Given the description of an element on the screen output the (x, y) to click on. 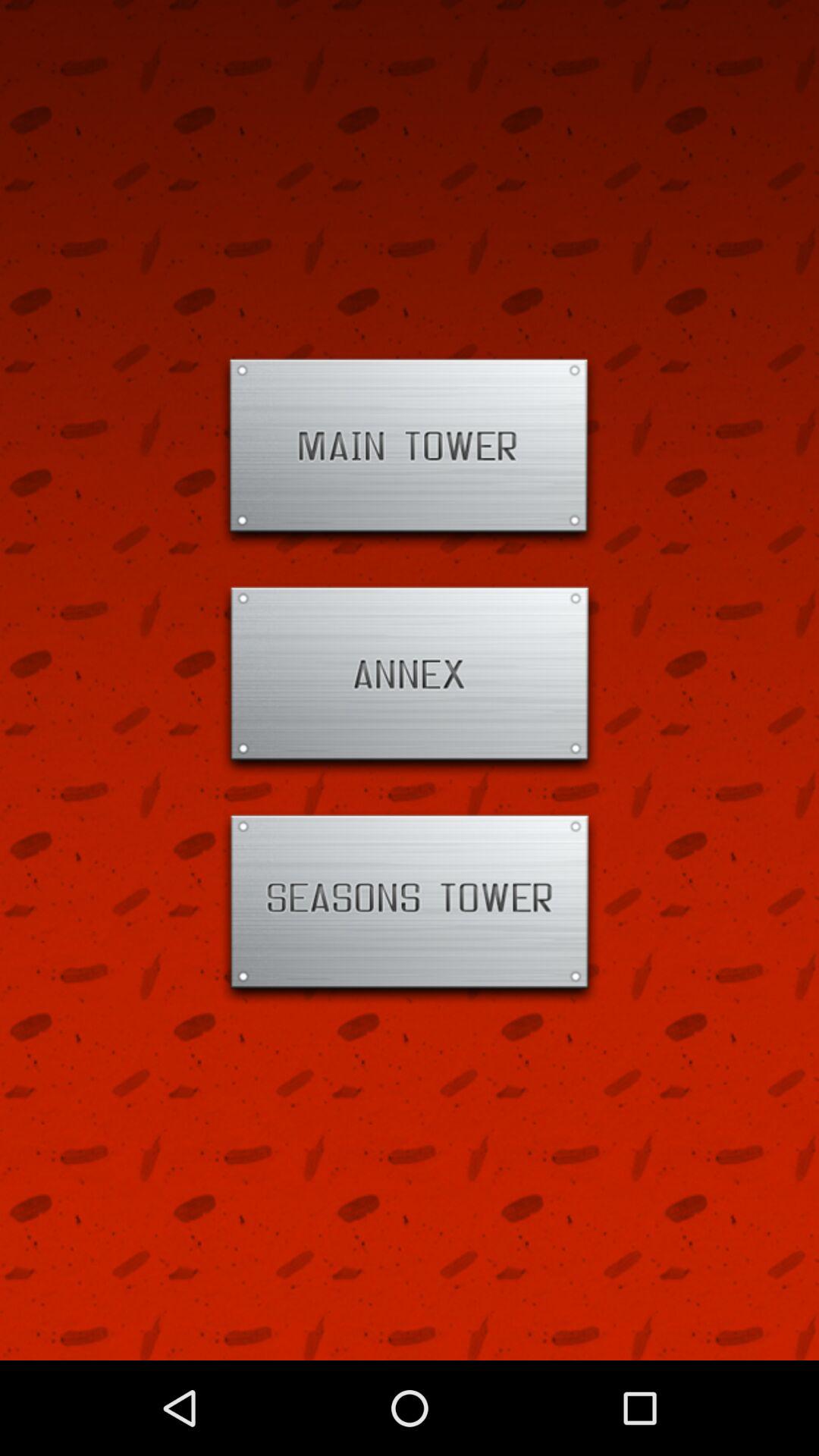
main tower button (409, 452)
